Given the description of an element on the screen output the (x, y) to click on. 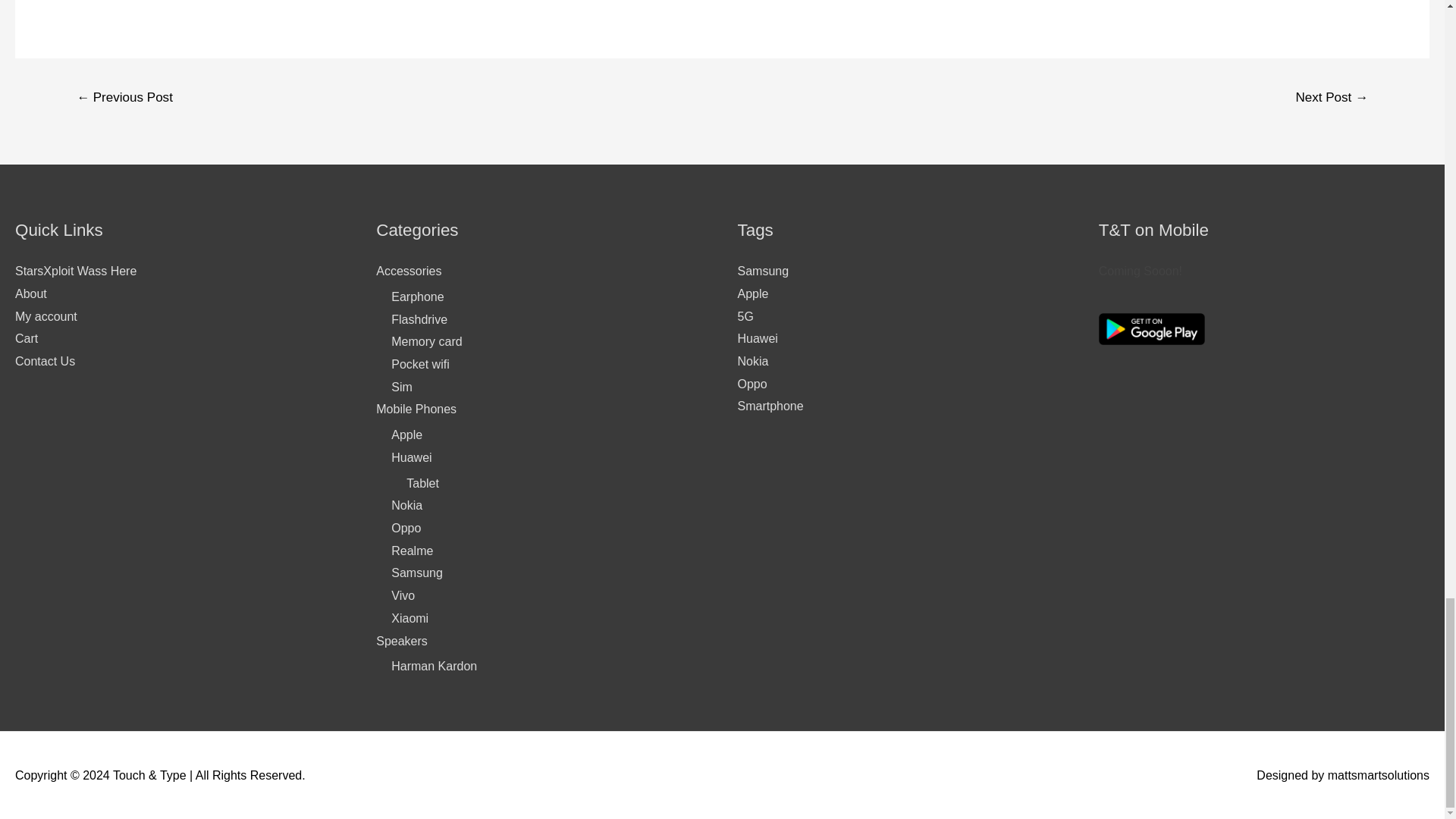
Earphone (417, 296)
Accessories (408, 270)
StarsXploit Wass Here (75, 270)
Cart (25, 338)
My account (45, 316)
About (30, 293)
Contact Us (44, 360)
Flashdrive (418, 318)
